Given the description of an element on the screen output the (x, y) to click on. 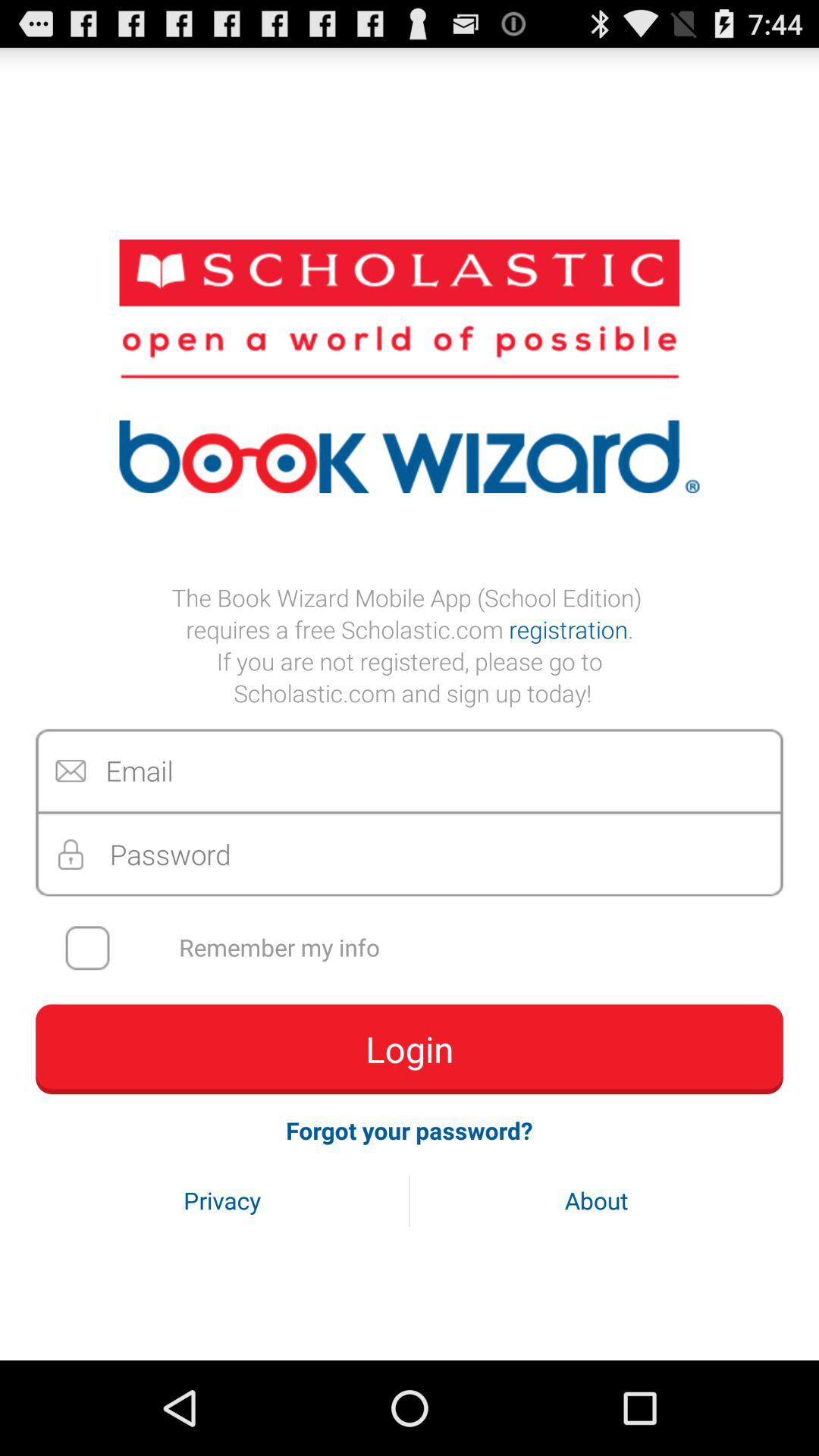
select item above the login icon (419, 947)
